Given the description of an element on the screen output the (x, y) to click on. 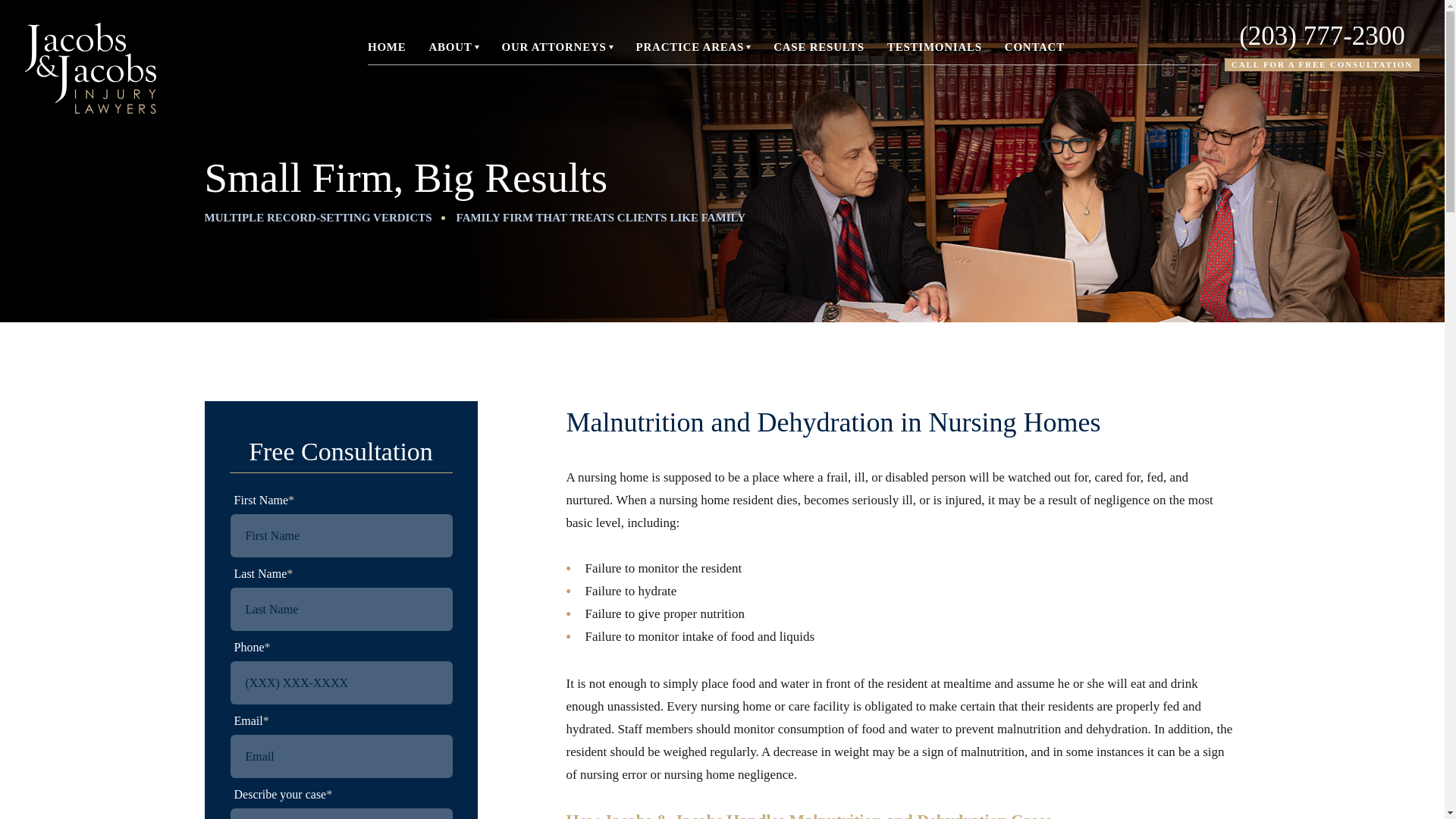
OUR ATTORNEYS (557, 47)
CONTACT (1034, 47)
HOME (387, 47)
ABOUT (454, 47)
CASE RESULTS (818, 47)
PRACTICE AREAS (693, 47)
TESTIMONIALS (933, 47)
